Given the description of an element on the screen output the (x, y) to click on. 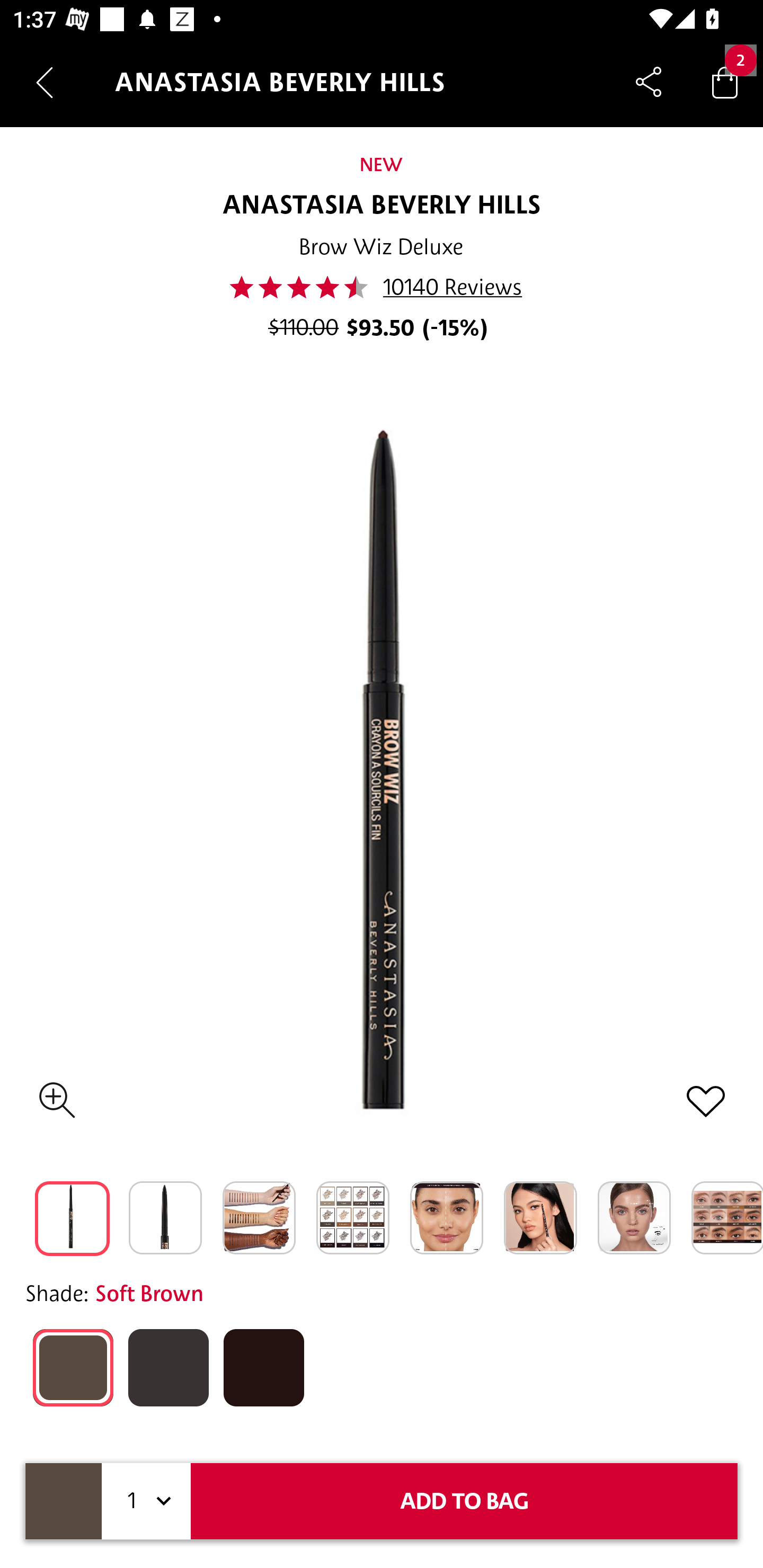
Navigate up (44, 82)
Share (648, 81)
Bag (724, 81)
ANASTASIA BEVERLY HILLS (381, 205)
45.0 10140 Reviews (380, 286)
1 (145, 1500)
ADD TO BAG (463, 1500)
